Given the description of an element on the screen output the (x, y) to click on. 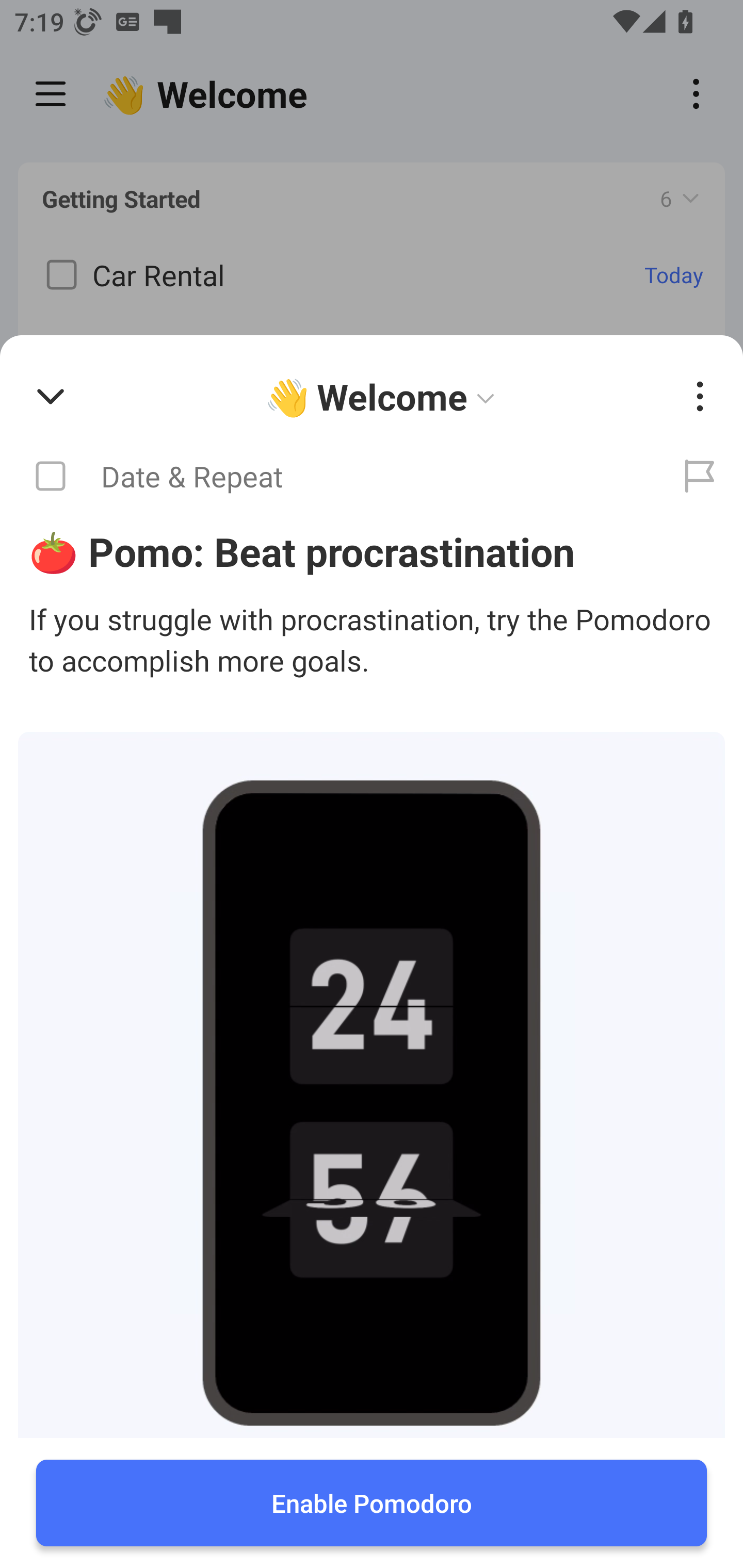
👋 Welcome (384, 396)
Date & Repeat (328, 476)
🍅 Pomo: Beat procrastination (371, 551)
Enable Pomodoro (371, 1502)
